Given the description of an element on the screen output the (x, y) to click on. 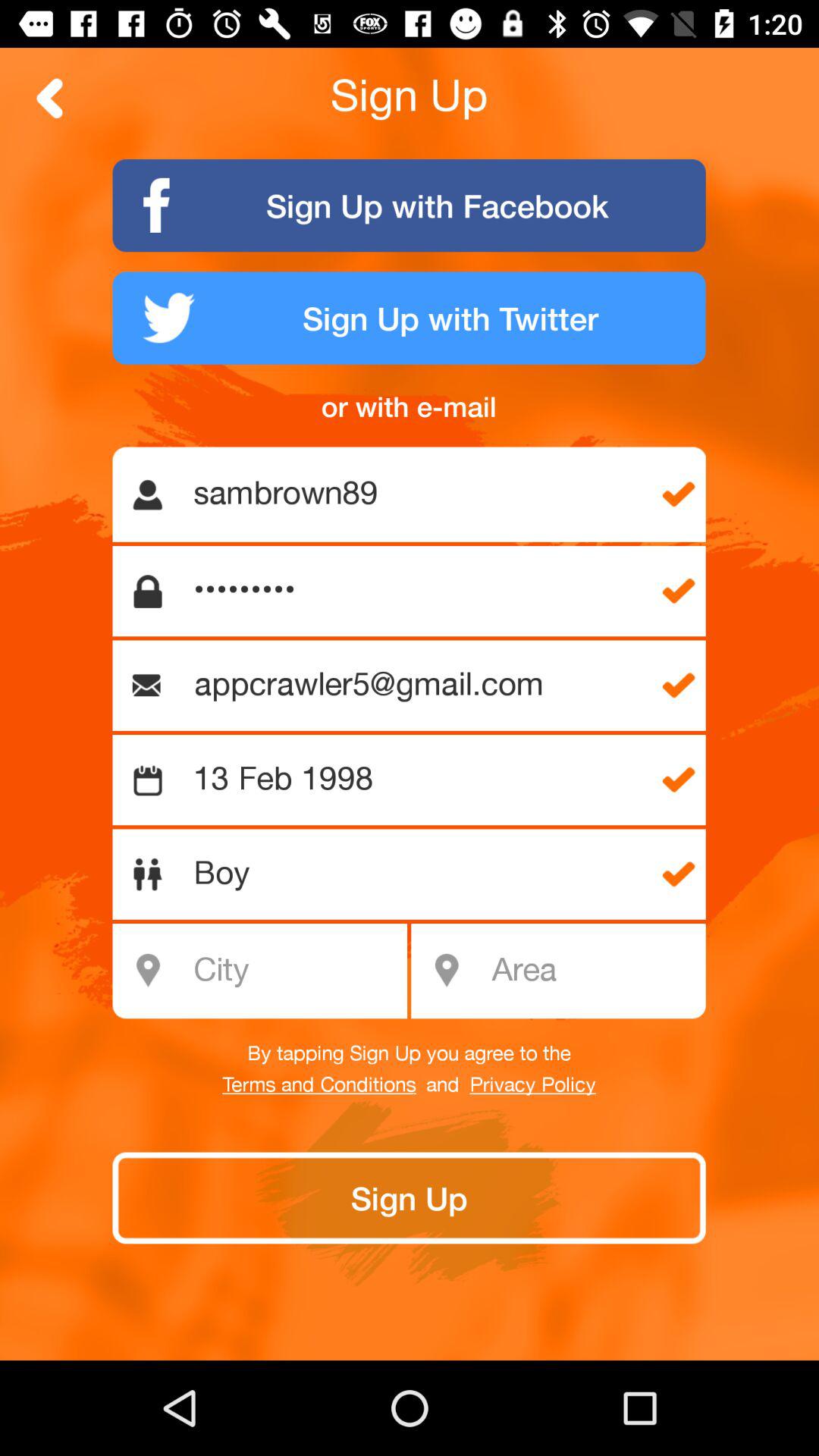
launch appcrawler5@gmail.com (416, 685)
